Given the description of an element on the screen output the (x, y) to click on. 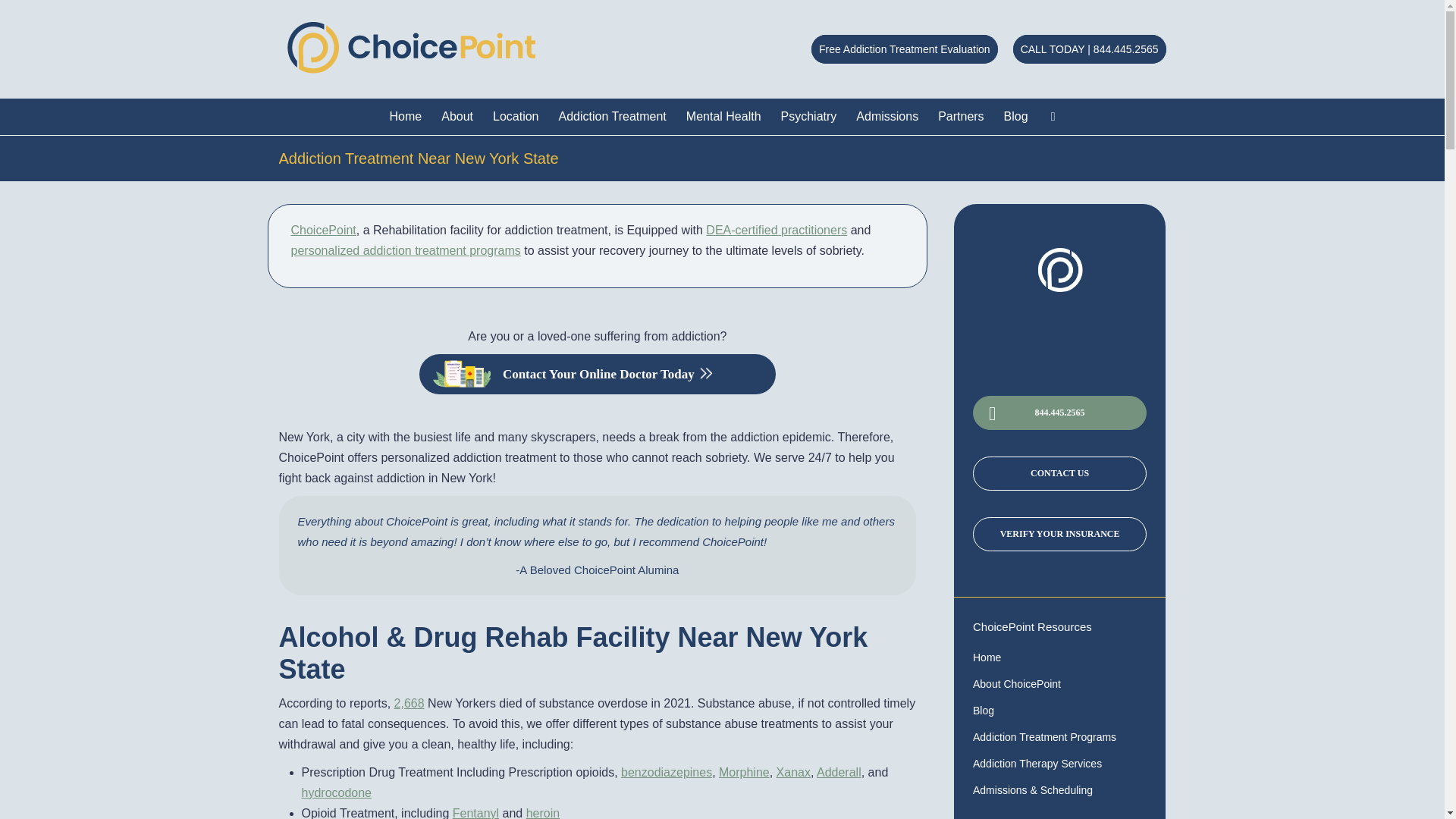
Home (406, 116)
About (457, 116)
Contact ChoicePoint Health (1059, 473)
Free Addiction Treatment Evaluation (903, 49)
Location (515, 116)
Insurance Verification (1059, 533)
Addiction Treatment (612, 116)
ChoicePoint Hackensack bottom bar high dpi 2 (1059, 269)
